Given the description of an element on the screen output the (x, y) to click on. 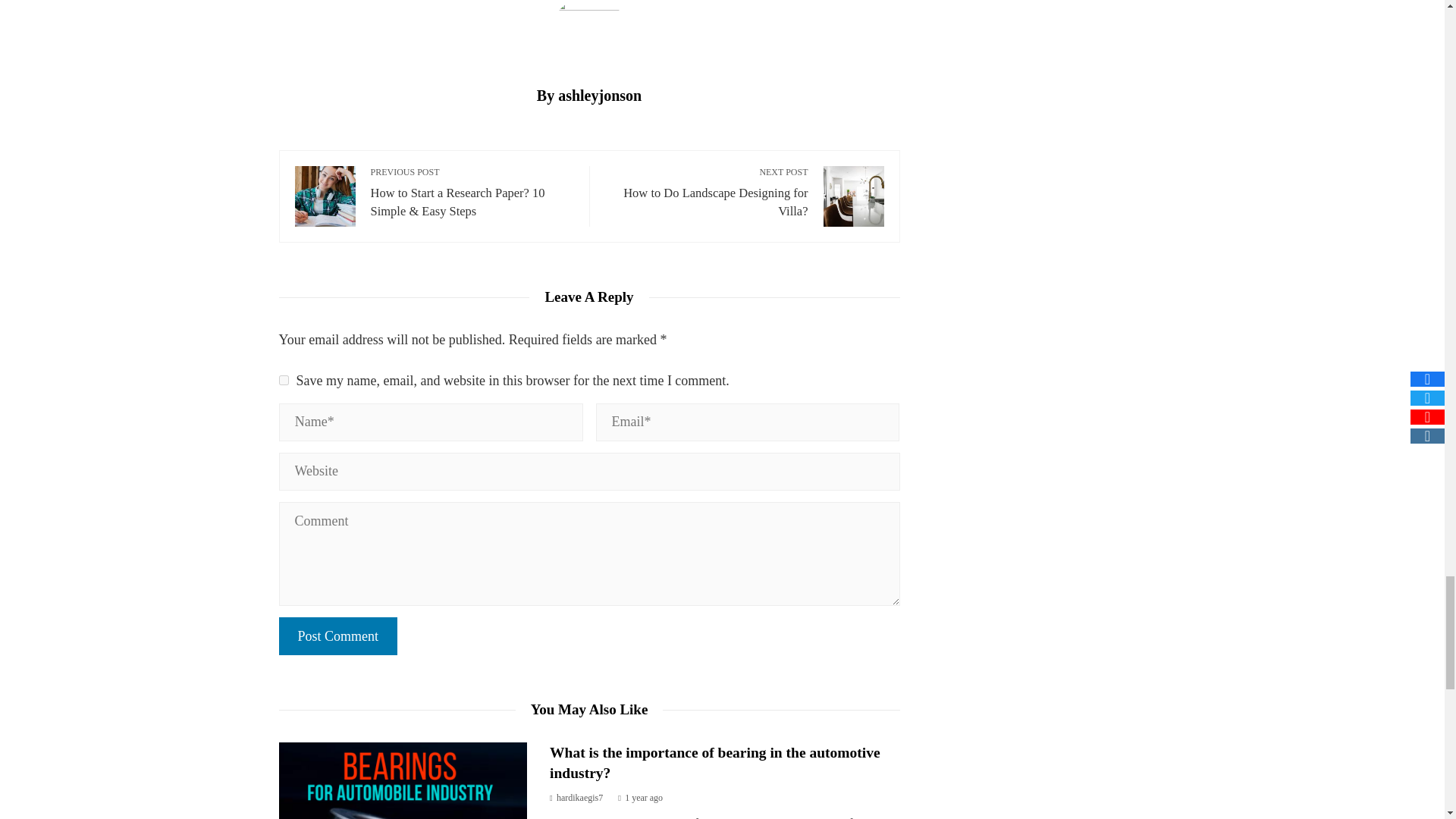
yes (283, 379)
Post Comment (338, 636)
